Given the description of an element on the screen output the (x, y) to click on. 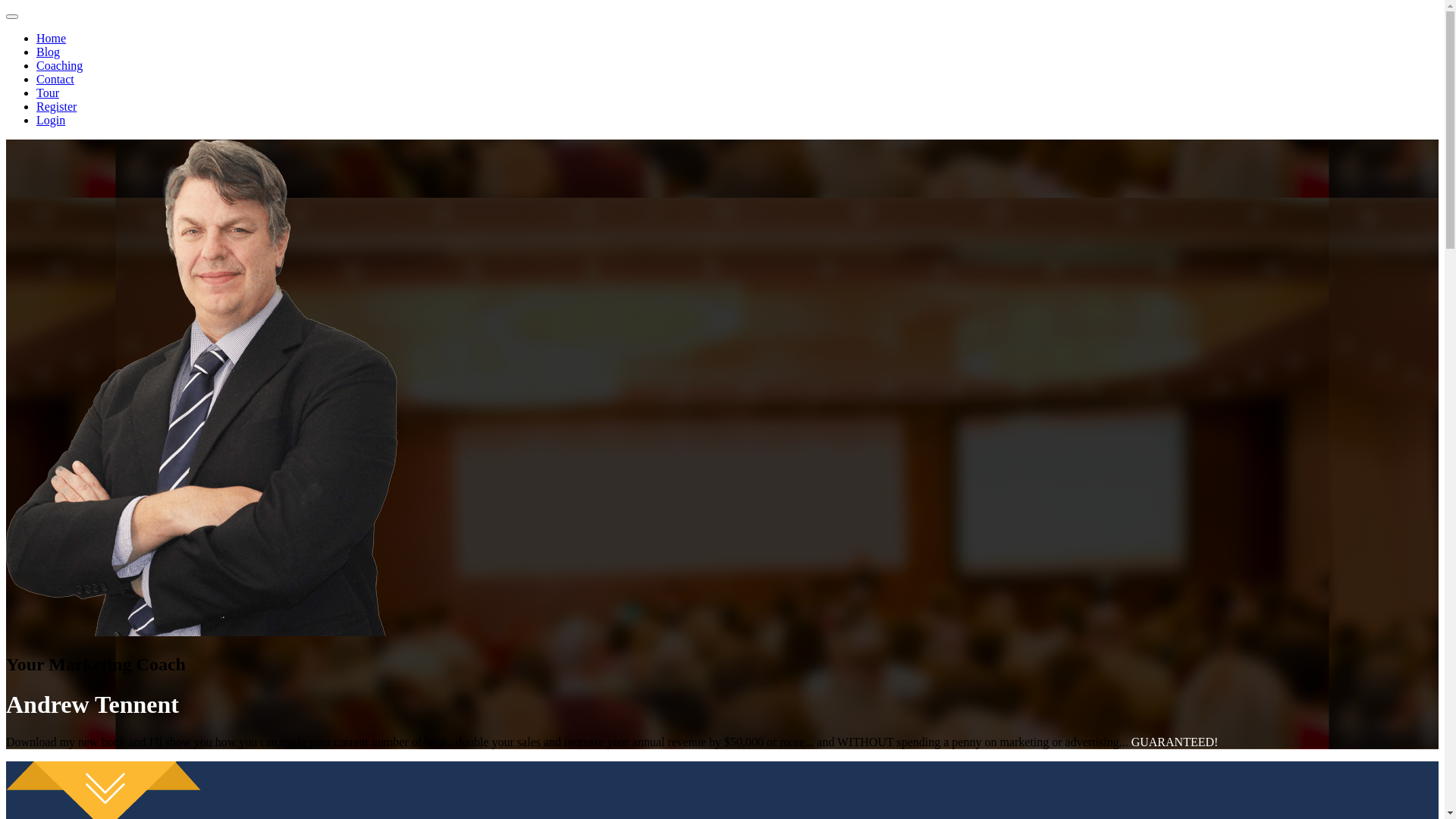
Home Element type: text (50, 37)
Register Element type: text (56, 106)
Tour Element type: text (47, 92)
Contact Element type: text (55, 78)
Login Element type: text (50, 119)
Blog Element type: text (47, 51)
Coaching Element type: text (59, 65)
